Given the description of an element on the screen output the (x, y) to click on. 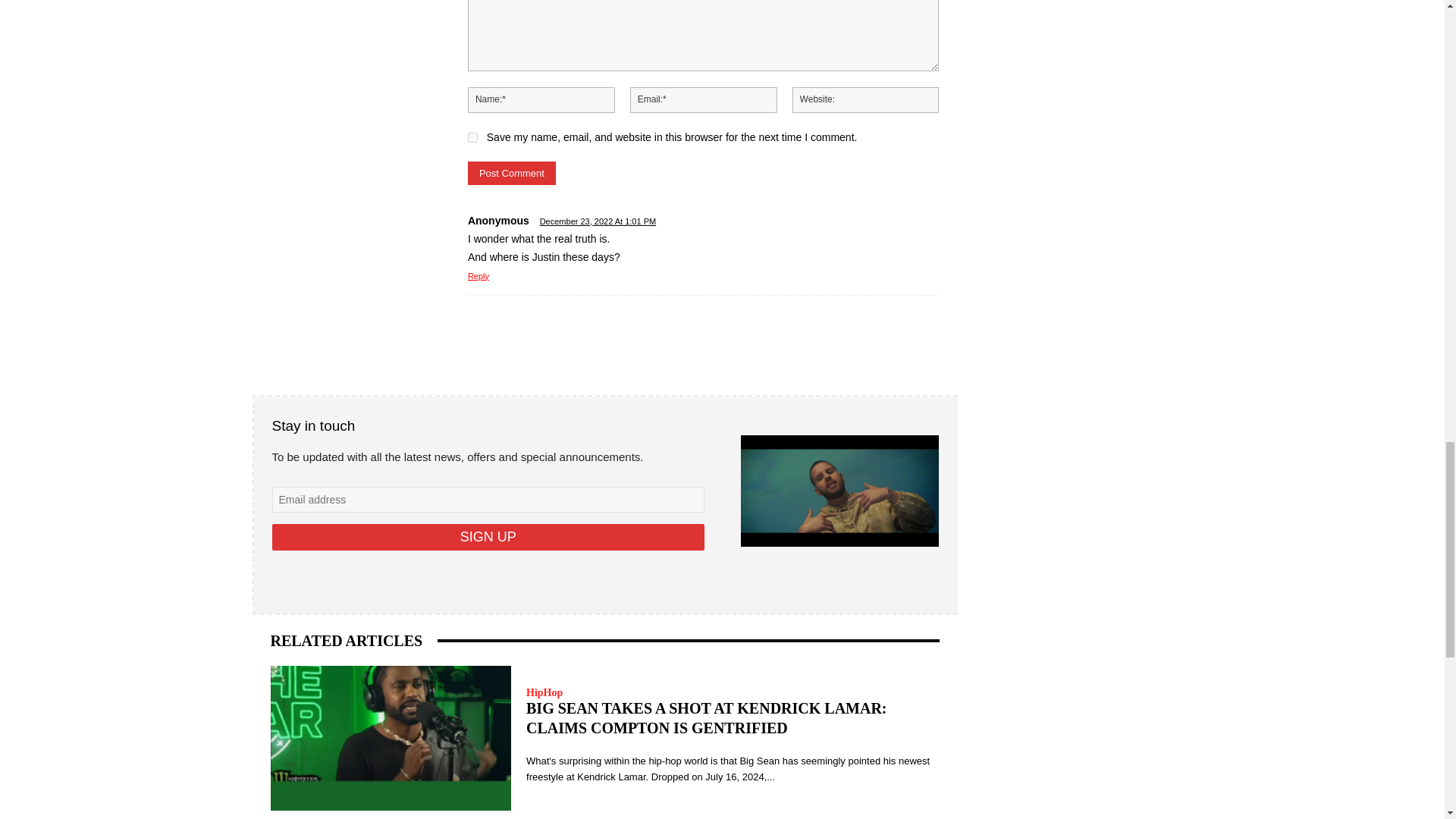
Post Comment (511, 173)
yes (472, 137)
